Given the description of an element on the screen output the (x, y) to click on. 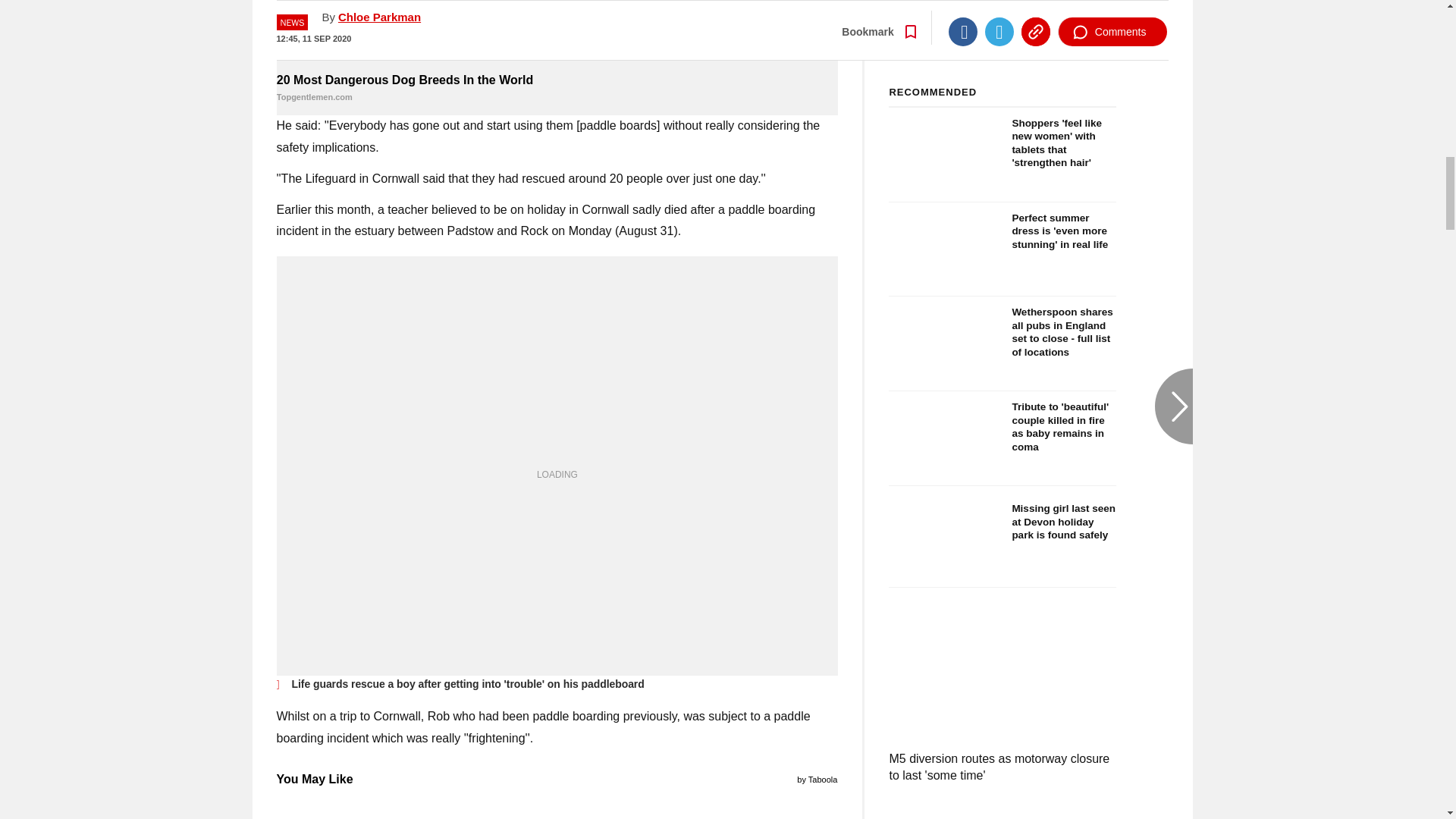
20 Most Dangerous Dog Breeds In the World (557, 88)
20 Most Dangerous Dog Breeds In the World (557, 34)
